Given the description of an element on the screen output the (x, y) to click on. 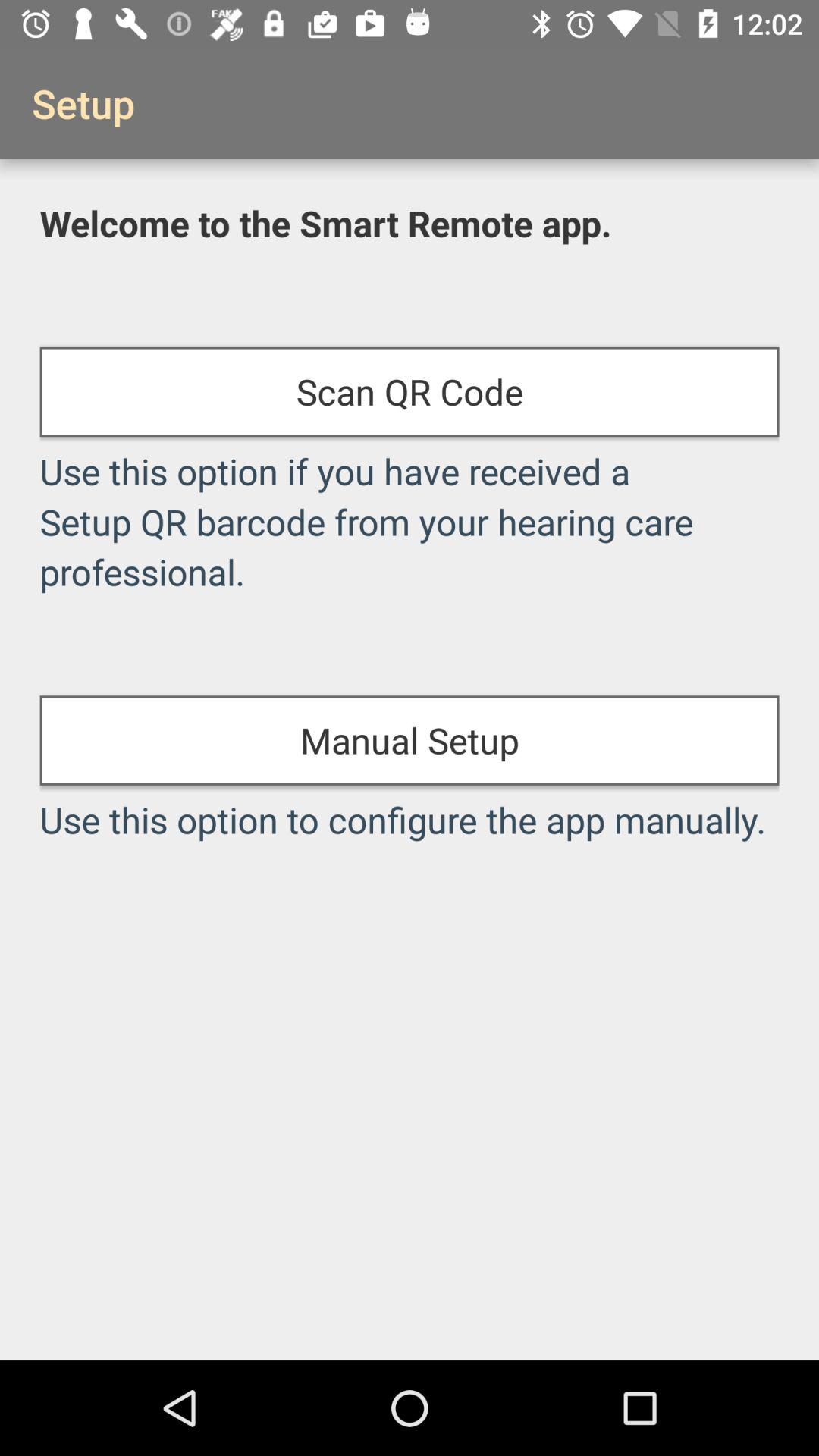
choose icon below the use this option item (409, 740)
